Given the description of an element on the screen output the (x, y) to click on. 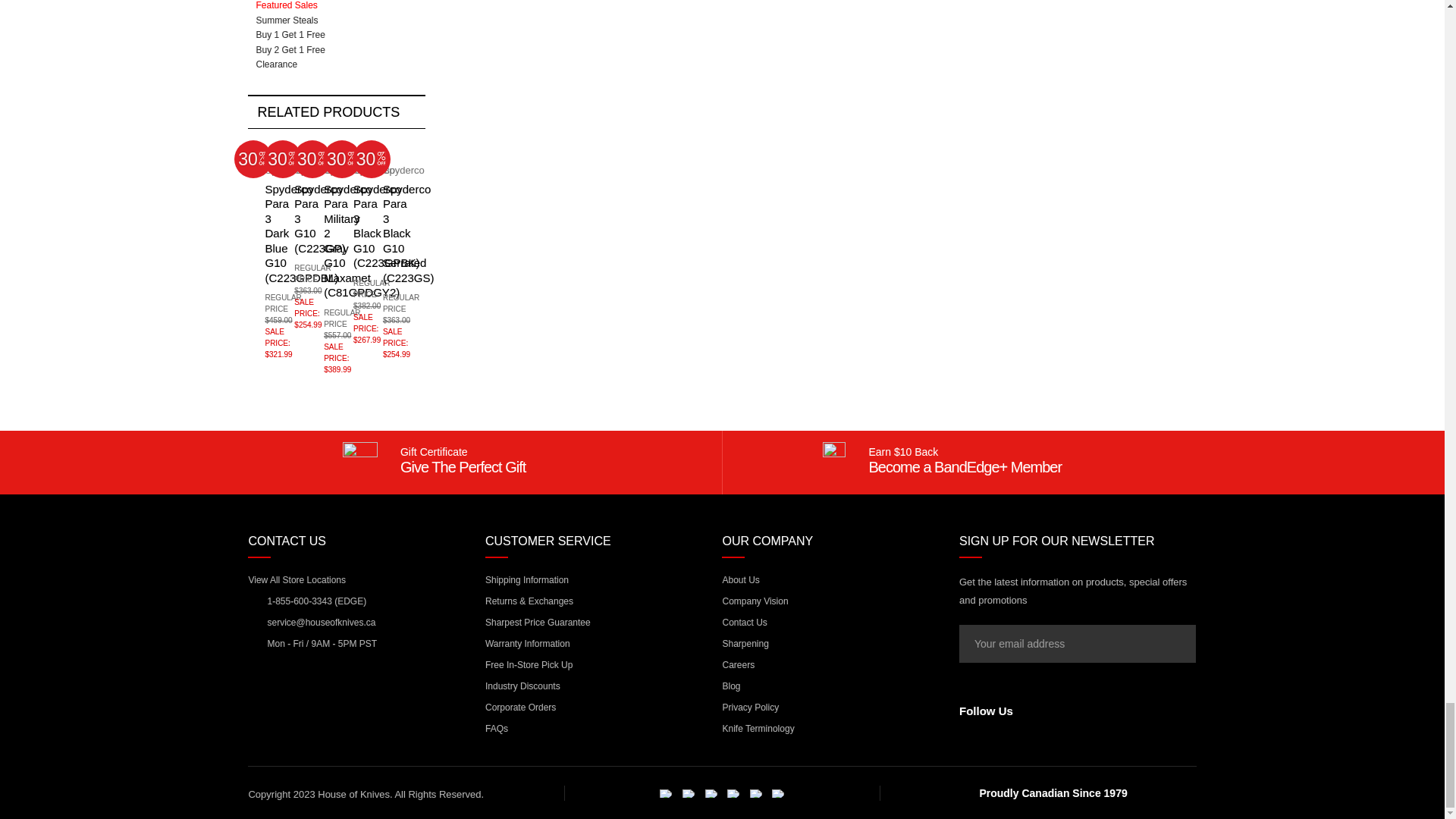
Spyderco Para 3 Dark Blue G10 (262, 148)
Spyderco Para 3 Black G10 Serrated (380, 148)
Spyderco Para Military 2 Gray G10 Maxamet (321, 148)
